Given the description of an element on the screen output the (x, y) to click on. 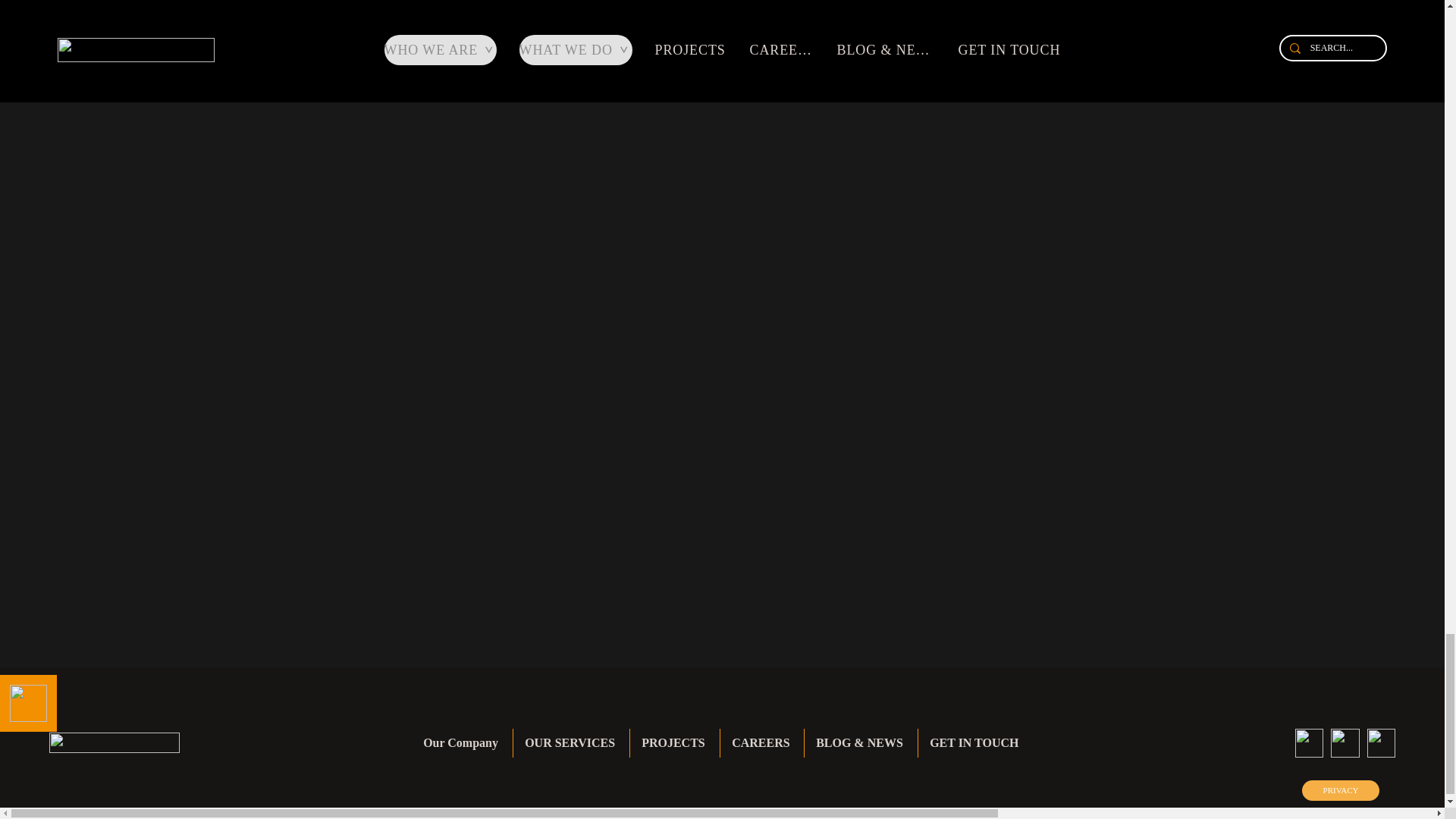
GET IN TOUCH (975, 742)
OUR SERVICES (570, 742)
PROJECTS (674, 742)
Our Company (462, 742)
CAREERS (761, 742)
